Given the description of an element on the screen output the (x, y) to click on. 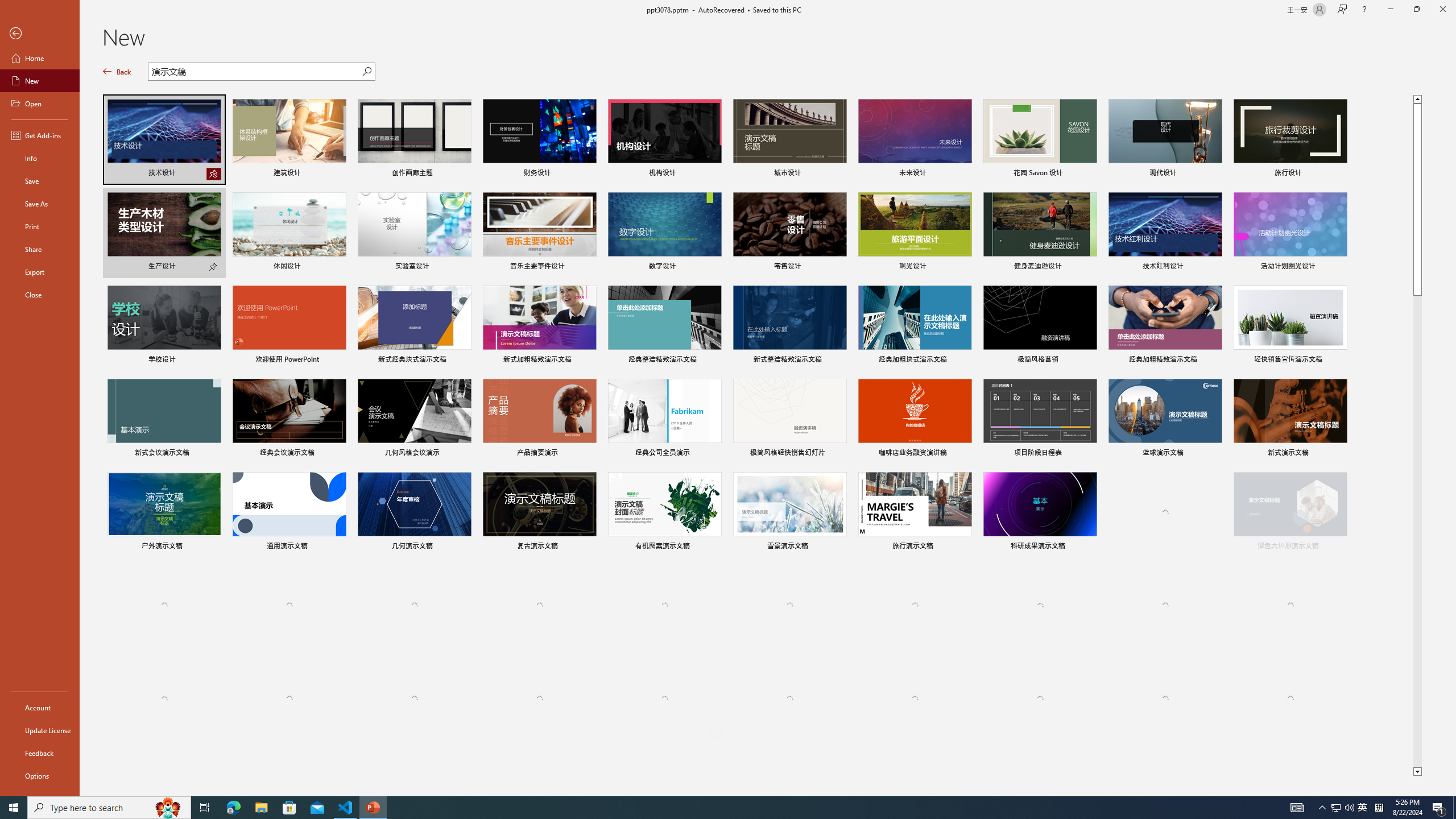
Info (40, 157)
Feedback (40, 753)
